Given the description of an element on the screen output the (x, y) to click on. 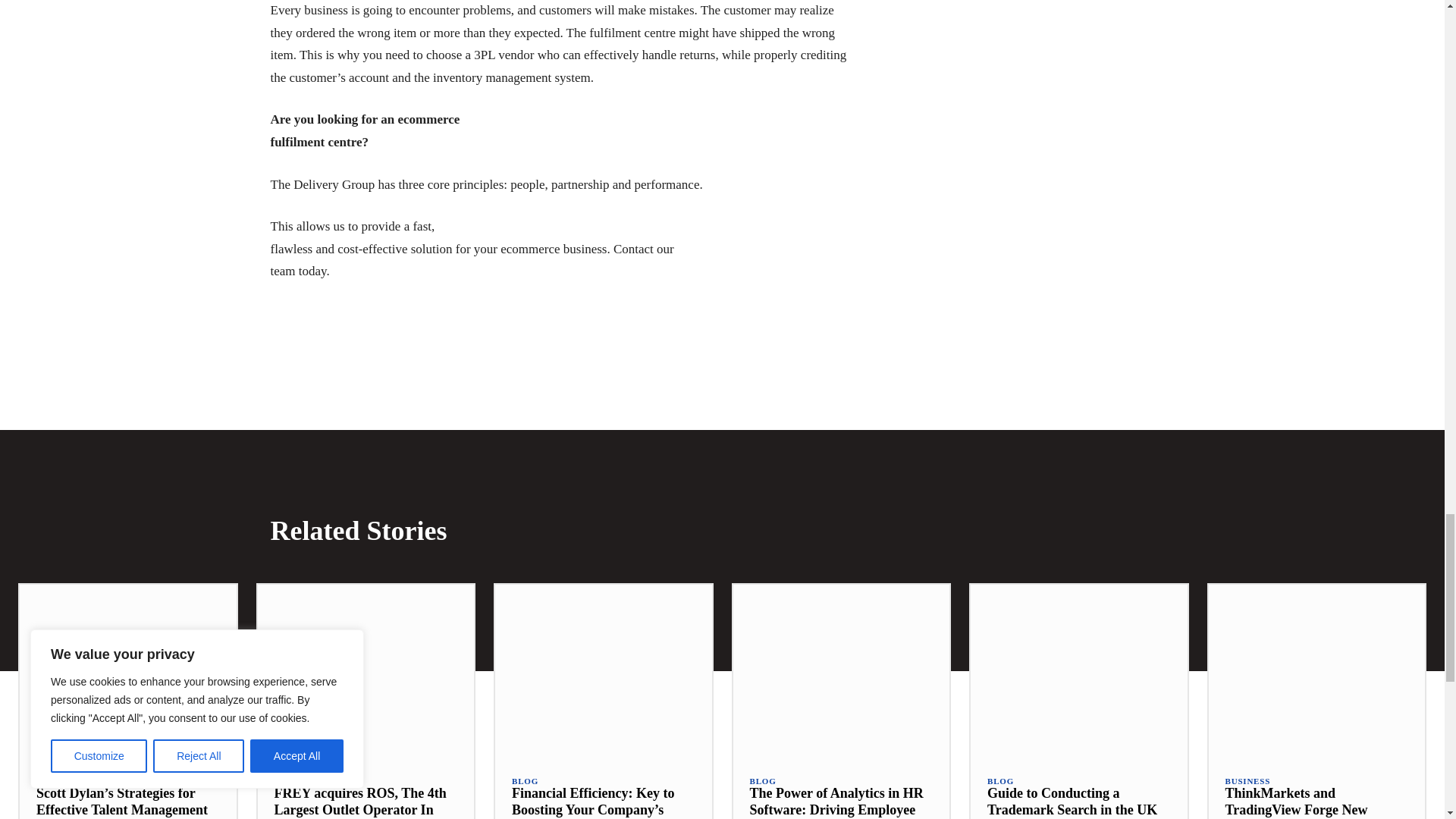
FREY acquires ROS, The 4th Largest Outlet Operator In Europe (360, 802)
FREY acquires ROS, The 4th Largest Outlet Operator In Europe (365, 670)
